Given the description of an element on the screen output the (x, y) to click on. 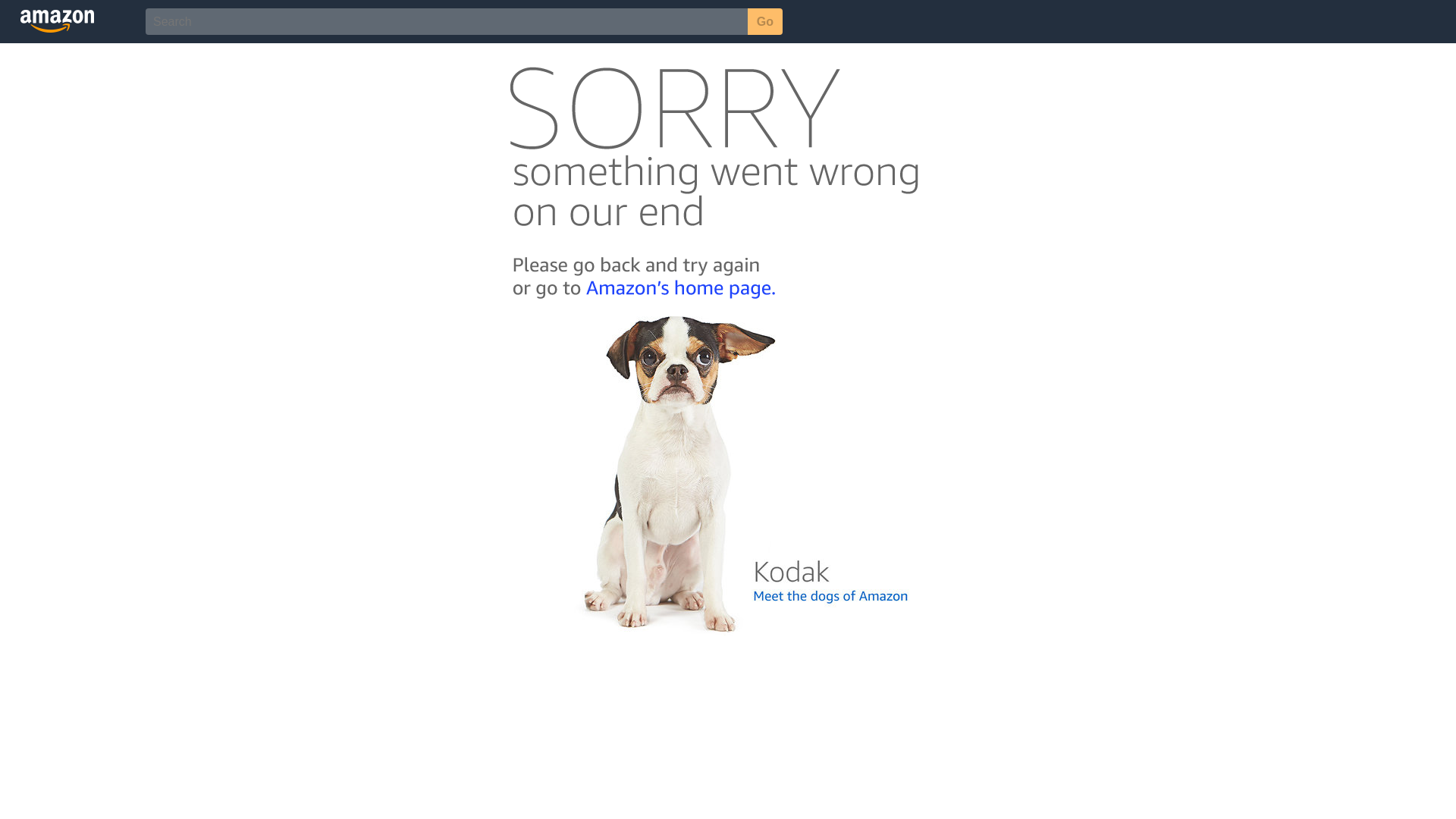
Go (765, 21)
Go (765, 21)
